Given the description of an element on the screen output the (x, y) to click on. 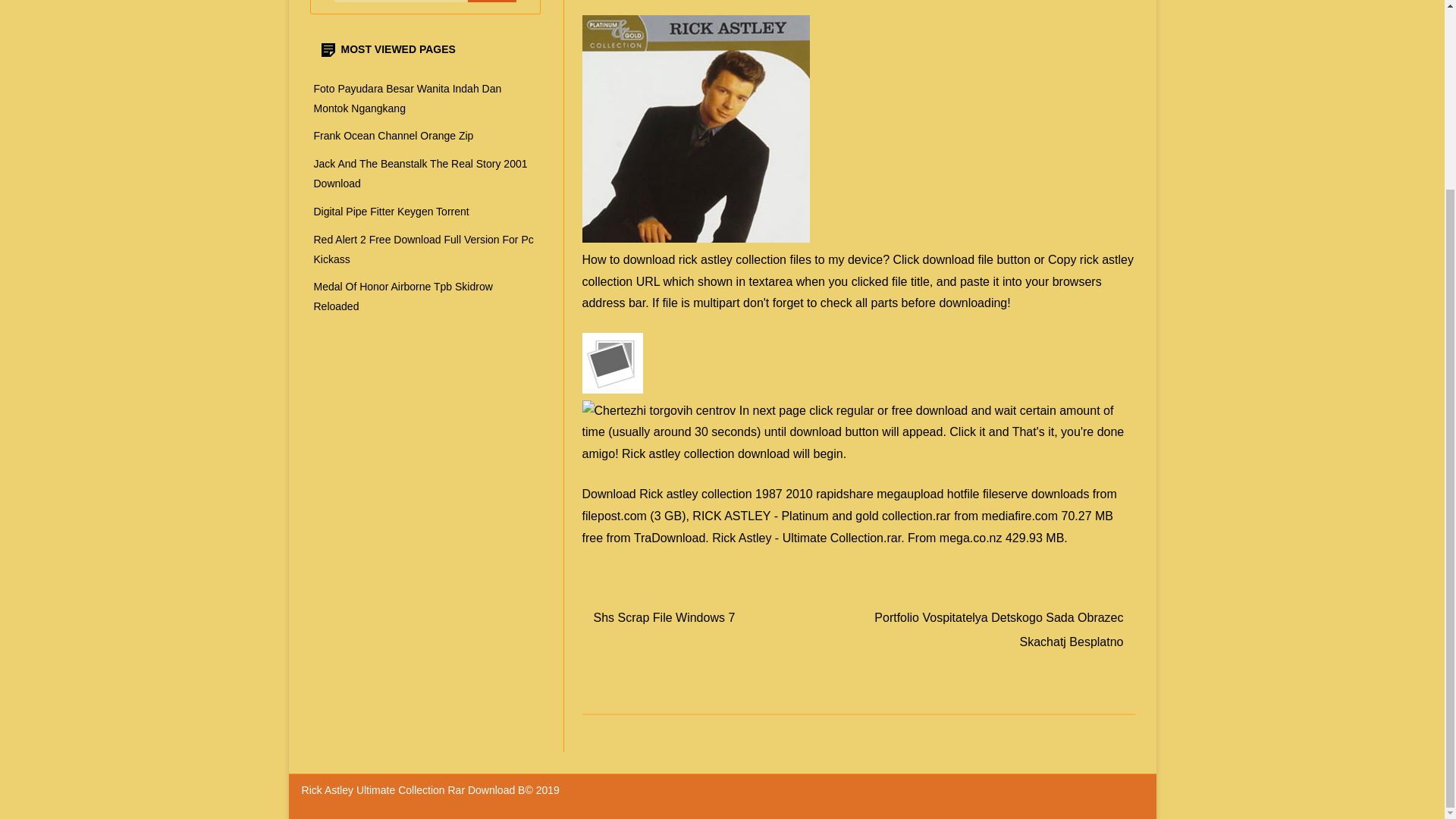
Rick Astley Ultimate Collection Rar Download (409, 789)
Red Alert 2 Free Download Full Version For Pc Kickass (424, 249)
Jack And The Beanstalk The Real Story 2001 Download (420, 173)
Foto Payudara Besar Wanita Indah Dan Montok Ngangkang (408, 98)
Search (491, 1)
Medal Of Honor Airborne Tpb Skidrow Reloaded (403, 296)
Rick Astley Ultimate Collection Rar Download (612, 362)
Search (491, 1)
Singer (695, 128)
Digital Pipe Fitter Keygen Torrent (391, 211)
Shs Scrap File Windows 7 (664, 617)
Frank Ocean Channel Orange Zip (394, 135)
